Given the description of an element on the screen output the (x, y) to click on. 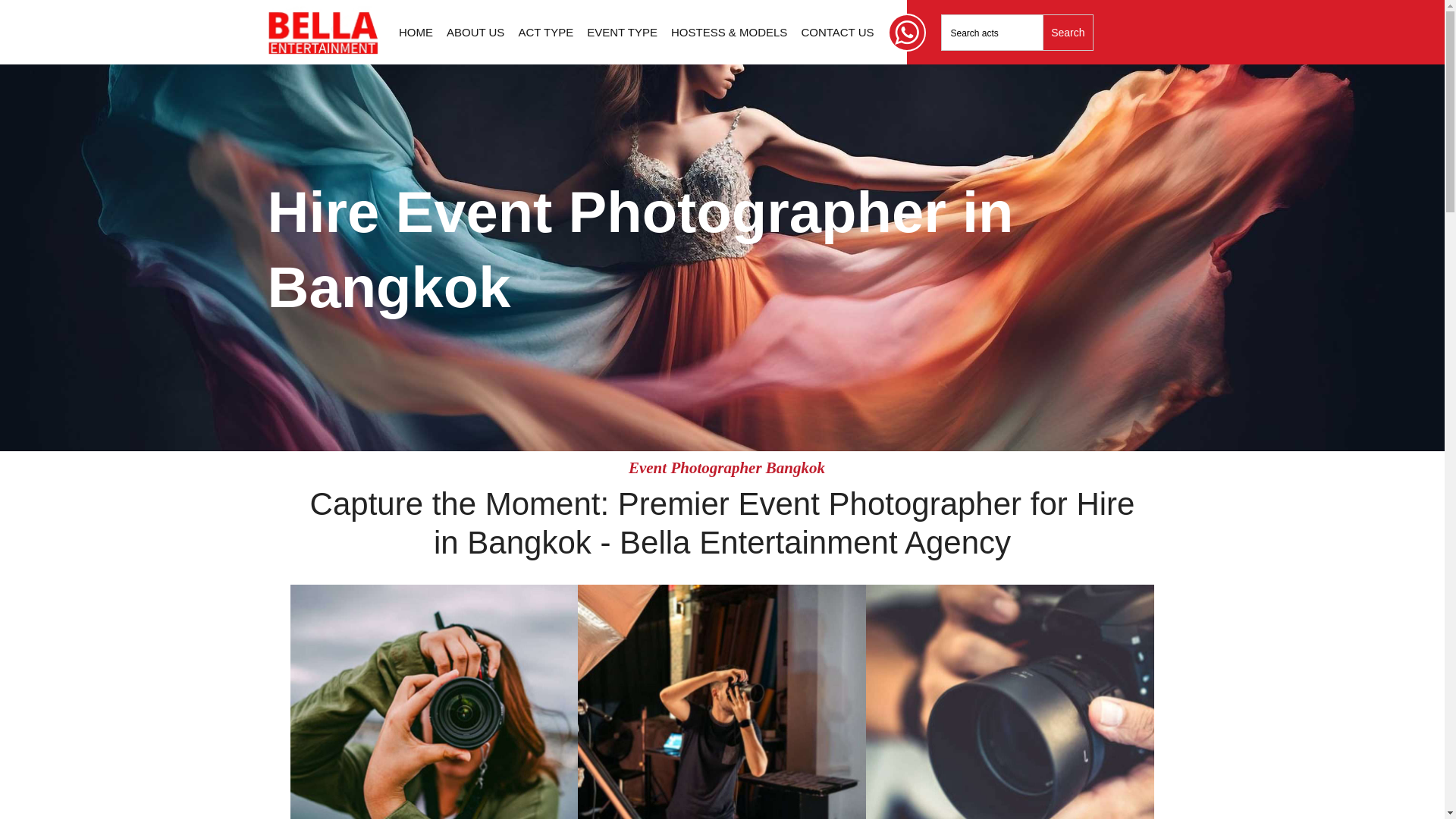
Search (1067, 31)
Search (1067, 31)
ABOUT US (474, 32)
